Given the description of an element on the screen output the (x, y) to click on. 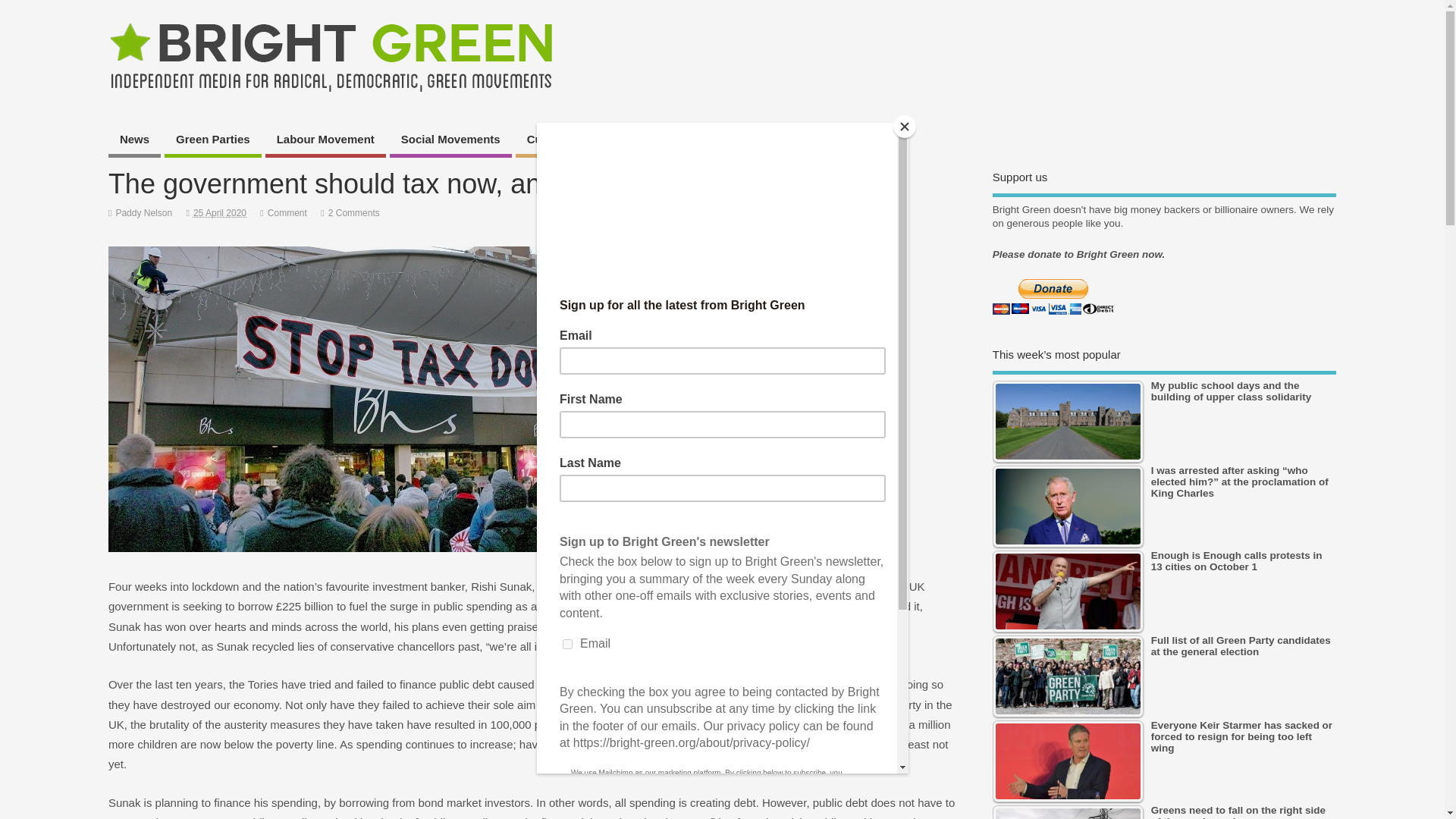
Posts by Paddy Nelson (143, 213)
Labour Movement (324, 141)
Paddy Nelson (143, 213)
News (133, 141)
Culture (546, 141)
Sign up (613, 141)
About (742, 141)
Comment (287, 213)
Green Parties (213, 141)
2 Comments (354, 213)
